Given the description of an element on the screen output the (x, y) to click on. 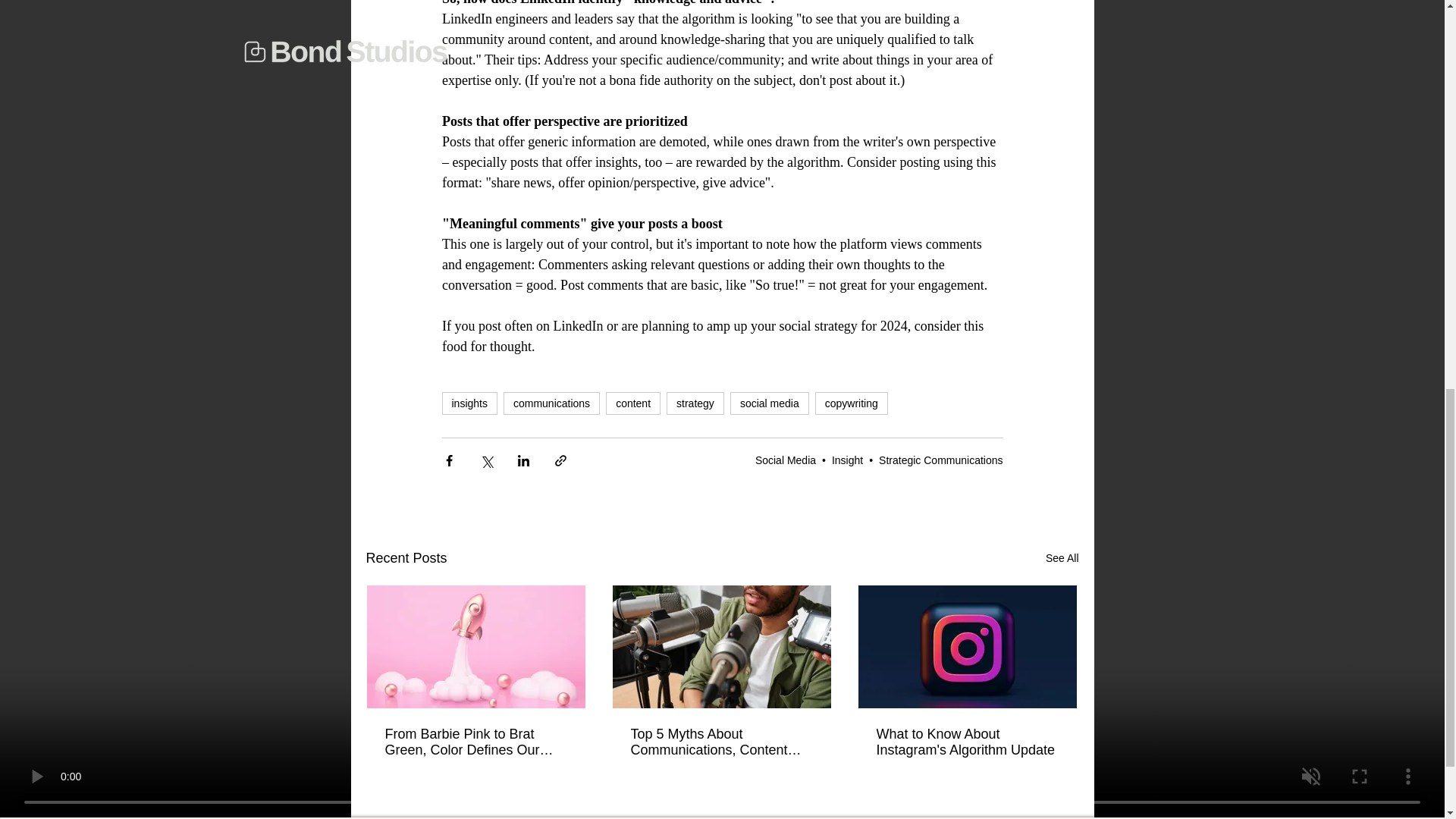
See All (1061, 558)
content (633, 403)
social media (769, 403)
communications (551, 403)
Insight (847, 460)
Strategic Communications (941, 460)
Social Media (785, 460)
strategy (694, 403)
insights (468, 403)
copywriting (851, 403)
